Given the description of an element on the screen output the (x, y) to click on. 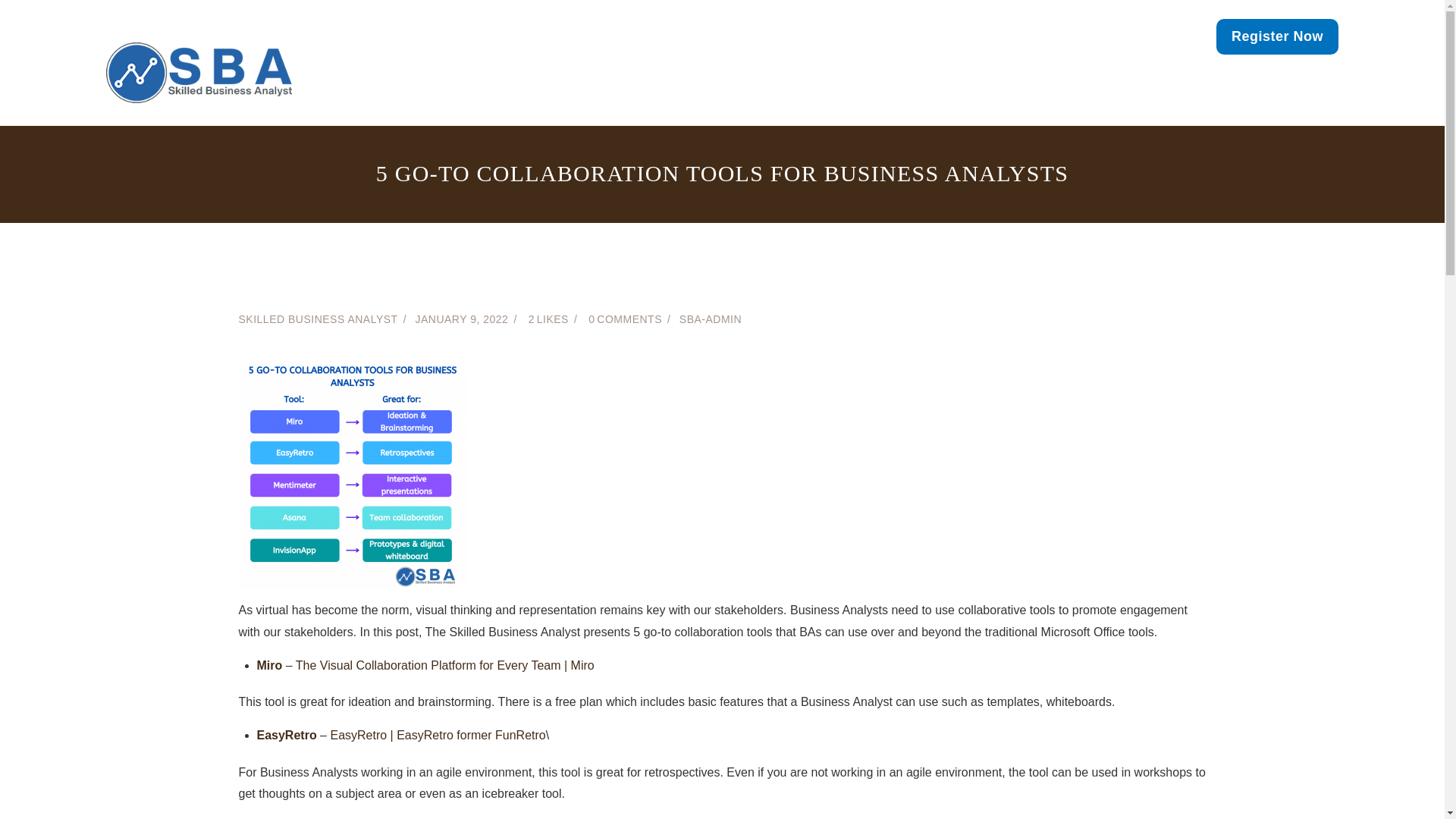
0COMMENTS (631, 318)
SBA-ADMIN (710, 318)
SKILLED BUSINESS ANALYST (317, 318)
JANUARY 9, 2022 (461, 318)
2LIKES (553, 318)
Like (553, 318)
Register Now (1276, 36)
